Given the description of an element on the screen output the (x, y) to click on. 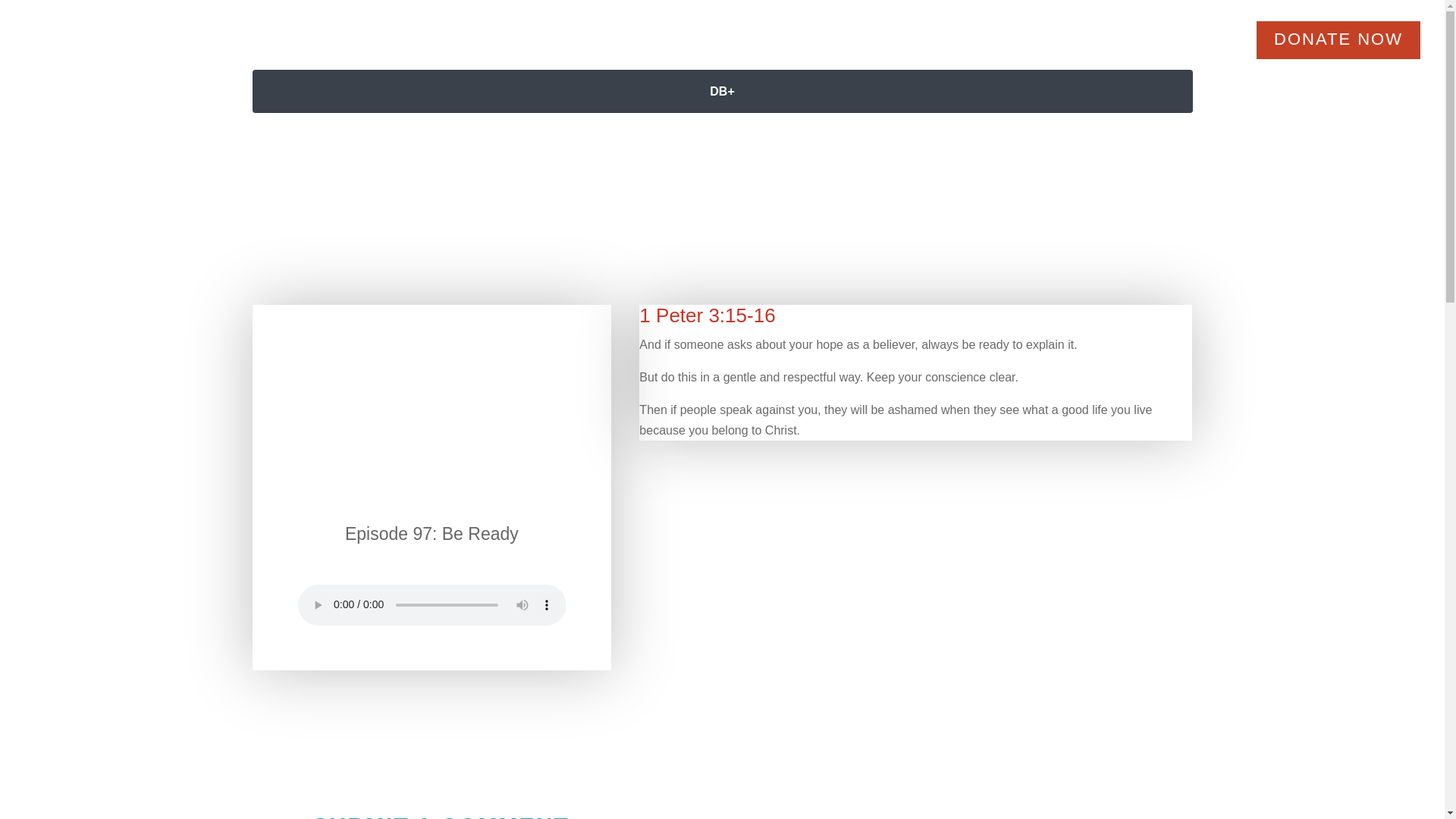
ABOUT (613, 51)
WHO WE ARE (832, 51)
DONATE NOW (1338, 39)
GET INVOLVED (1166, 51)
STORIES (707, 51)
STORE (1043, 51)
SPACE (530, 51)
EVENTS (953, 51)
